Given the description of an element on the screen output the (x, y) to click on. 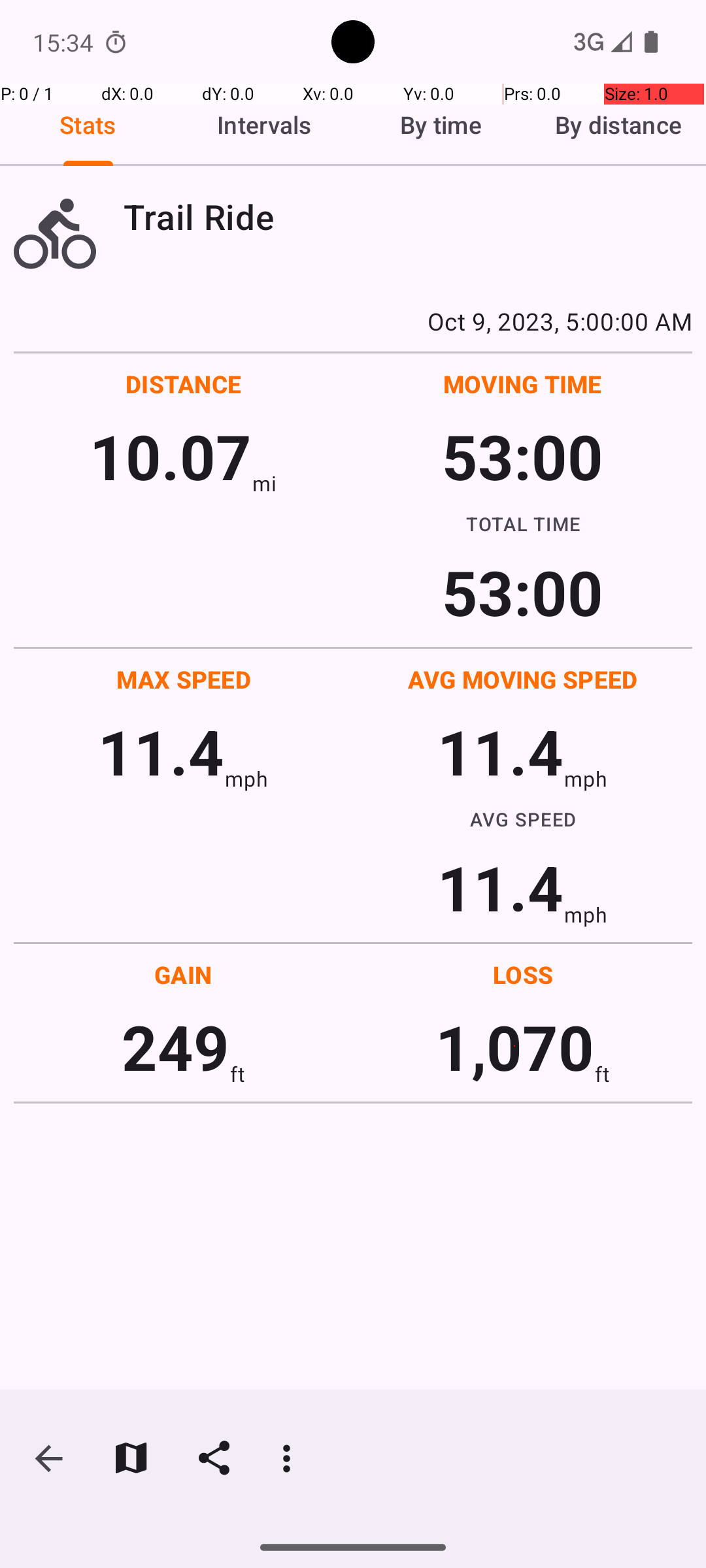
Trail Ride Element type: android.widget.TextView (407, 216)
Oct 9, 2023, 5:00:00 AM Element type: android.widget.TextView (352, 320)
10.07 Element type: android.widget.TextView (170, 455)
53:00 Element type: android.widget.TextView (522, 455)
11.4 Element type: android.widget.TextView (161, 750)
249 Element type: android.widget.TextView (175, 1045)
1,070 Element type: android.widget.TextView (514, 1045)
